Given the description of an element on the screen output the (x, y) to click on. 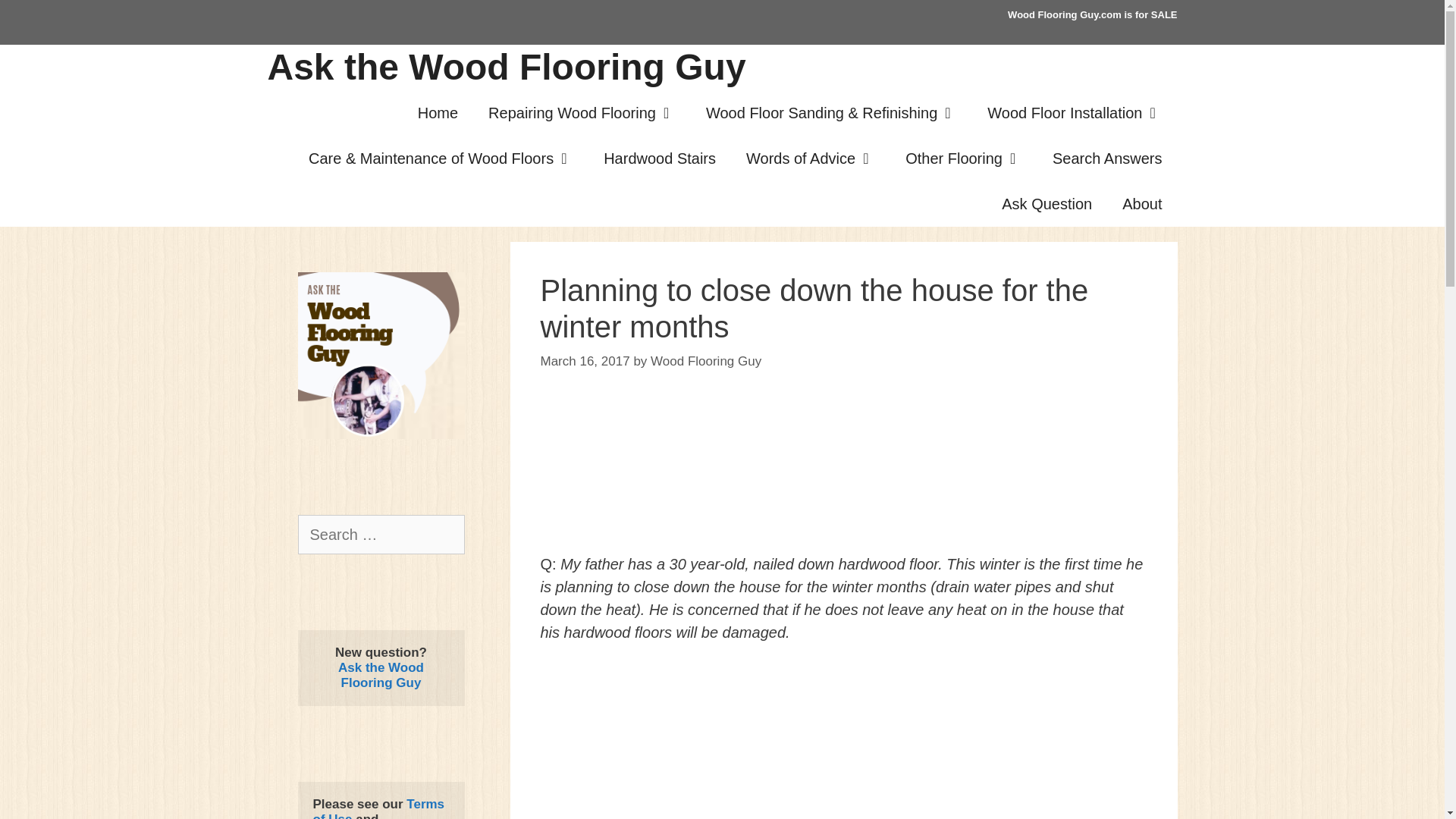
Advertisement (843, 742)
View all posts by Wood Flooring Guy (705, 359)
Advertisement (843, 476)
Wood Flooring Guy.com is for SALE (1091, 14)
Search for: (380, 534)
